Given the description of an element on the screen output the (x, y) to click on. 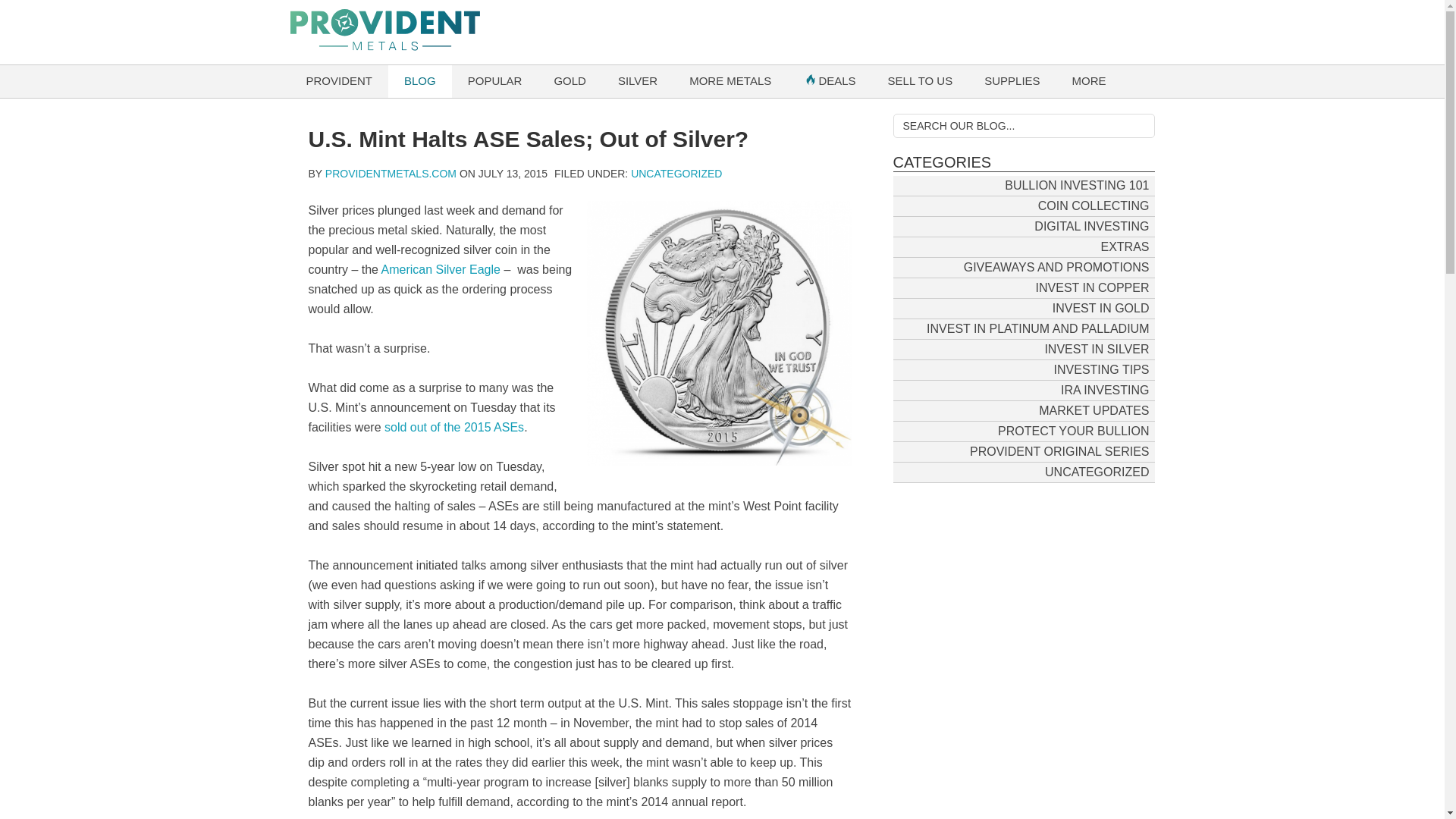
UNCATEGORIZED (676, 173)
IRA INVESTING (1104, 390)
PROVIDENT ORIGINAL SERIES (1058, 451)
GOLD (569, 81)
PROTECT YOUR BULLION (1073, 431)
GIVEAWAYS AND PROMOTIONS (1056, 267)
BLOG (419, 81)
INVEST IN COPPER (1092, 287)
SILVER (637, 81)
COIN COLLECTING (1093, 205)
